Given the description of an element on the screen output the (x, y) to click on. 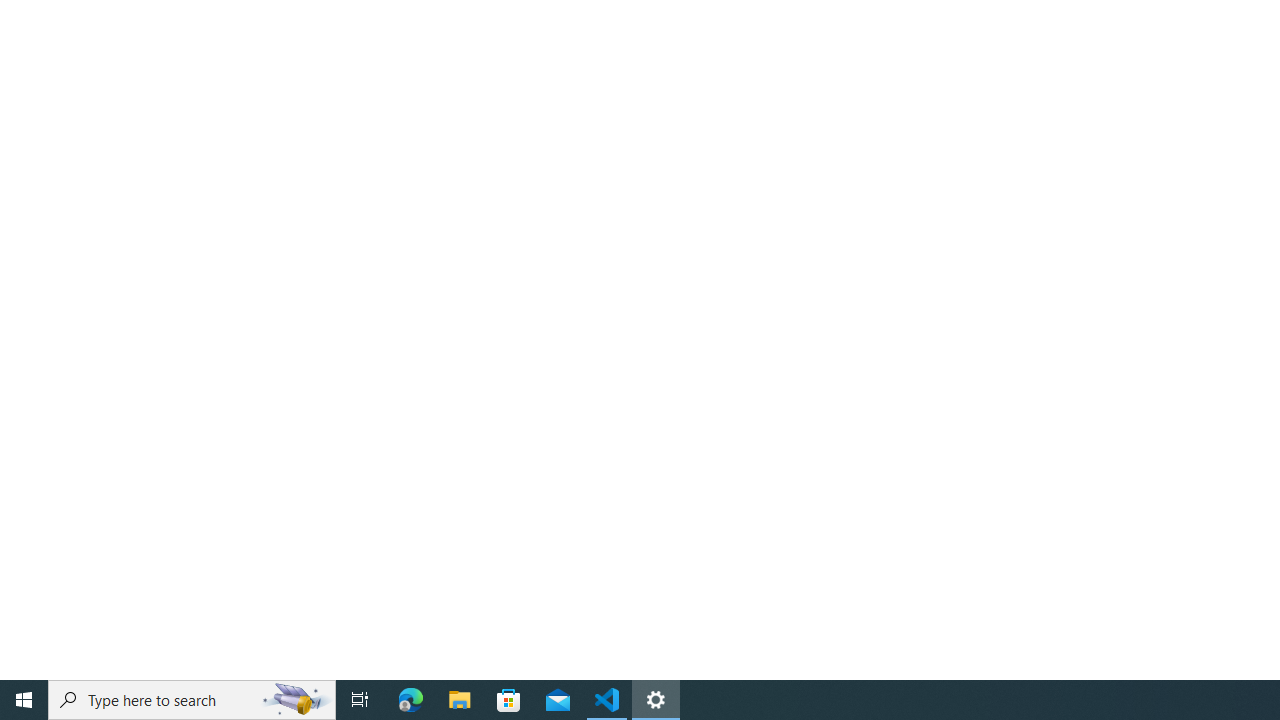
Settings - 1 running window (656, 699)
